Given the description of an element on the screen output the (x, y) to click on. 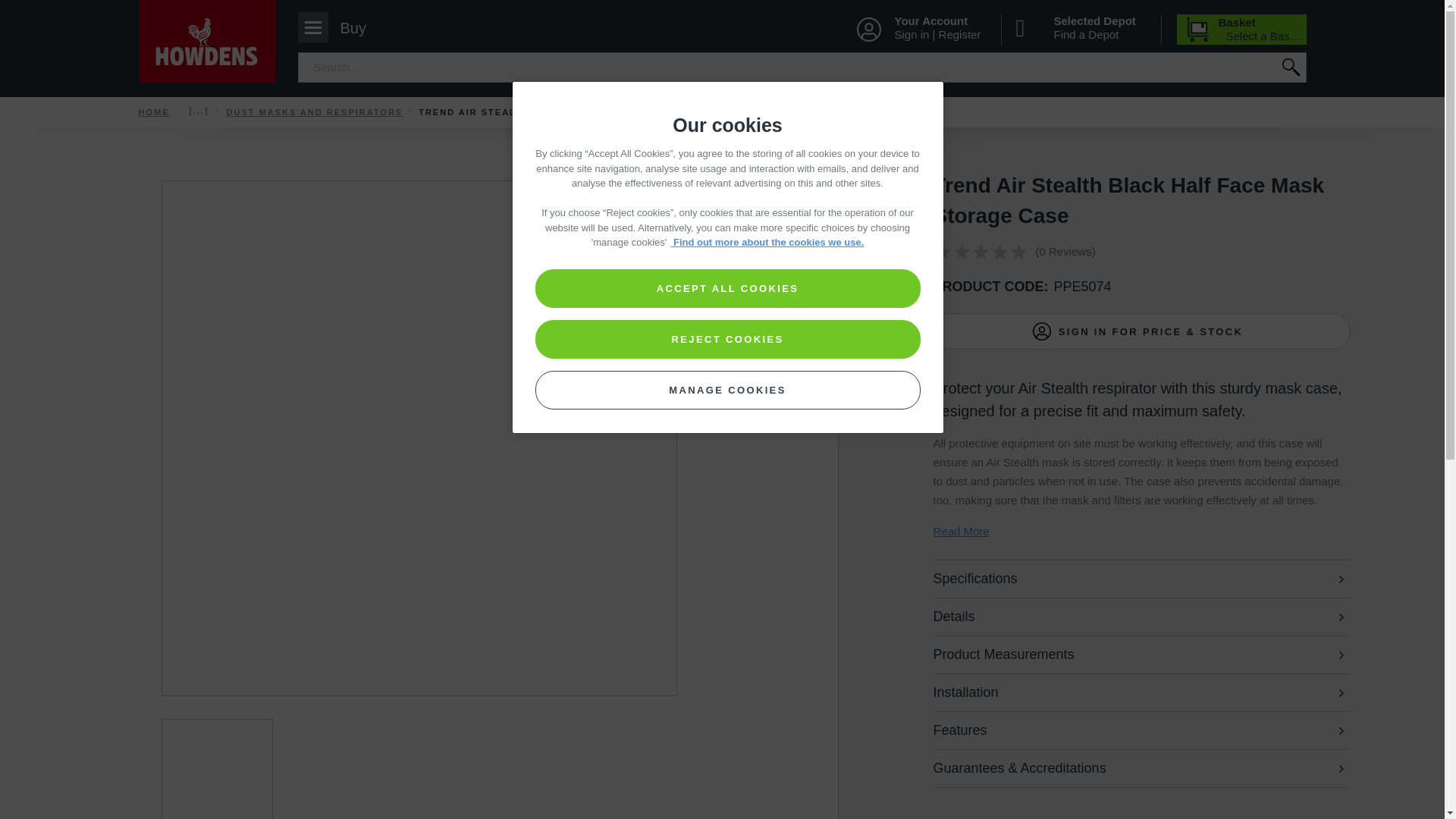
HOME (153, 112)
Buy (342, 27)
Open breadcrumbs list (198, 111)
Home (153, 112)
DUST MASKS AND RESPIRATORS (314, 112)
Dust Masks and Respirators (1242, 29)
Navigation (314, 112)
Search (342, 27)
Home (1289, 67)
